Given the description of an element on the screen output the (x, y) to click on. 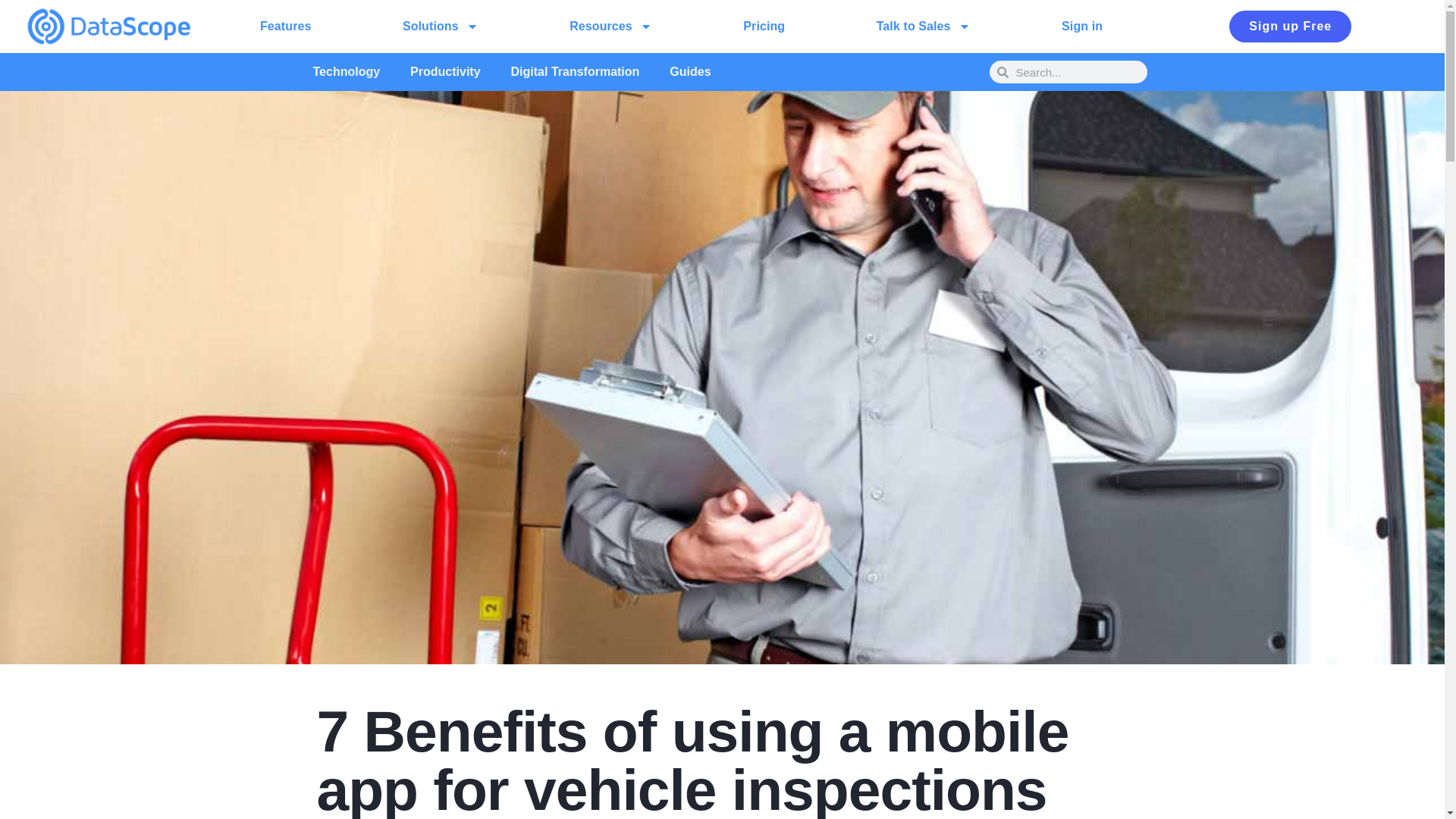
Technology (345, 71)
Sign up Free (1289, 26)
Talk to Sales (922, 26)
Features (285, 26)
Productivity (444, 71)
Digital Transformation (575, 71)
Guides (689, 71)
Sign in (1081, 26)
Solutions (440, 26)
Resources (610, 26)
Pricing (764, 26)
